Given the description of an element on the screen output the (x, y) to click on. 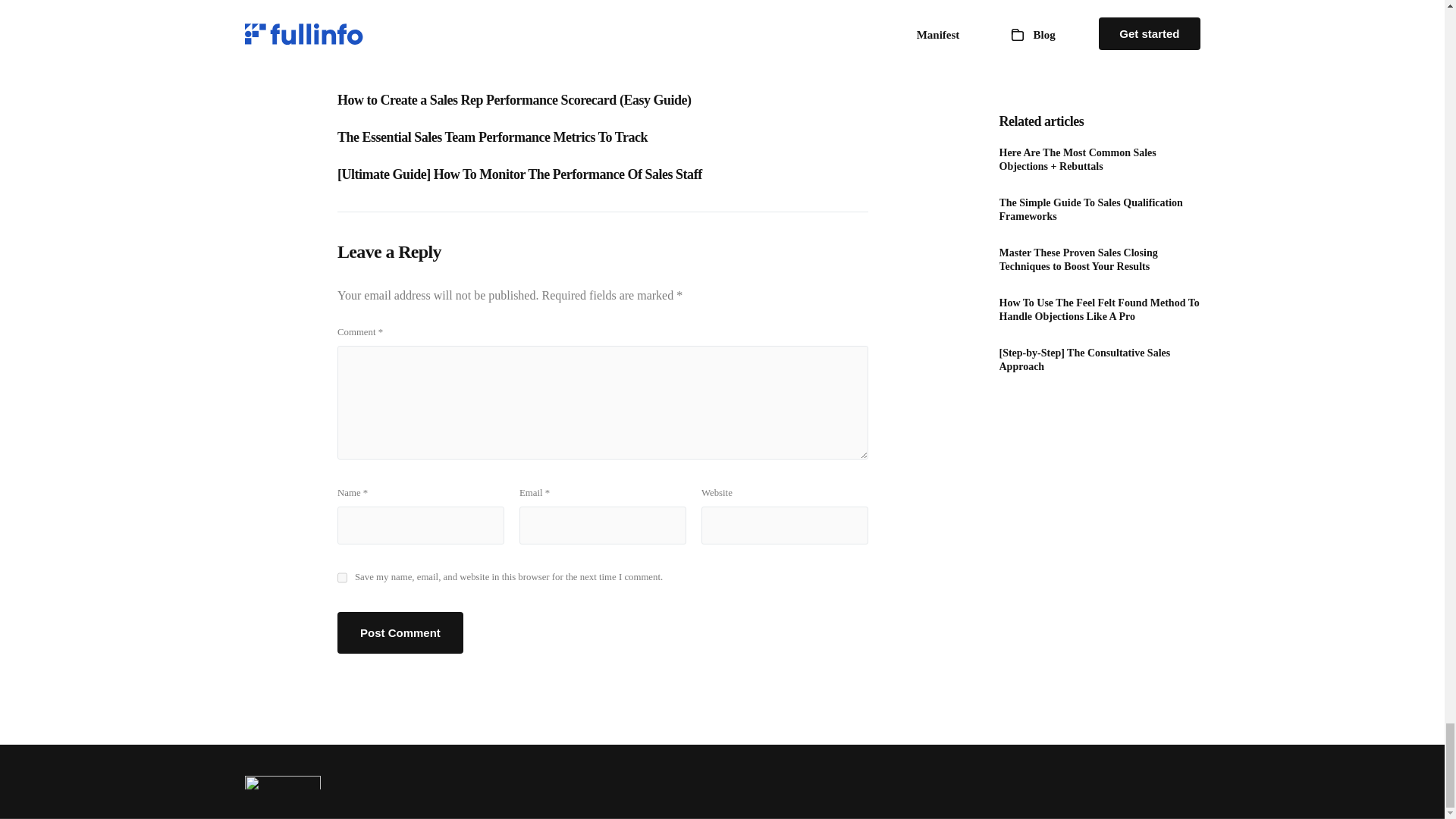
Post Comment (400, 632)
